Given the description of an element on the screen output the (x, y) to click on. 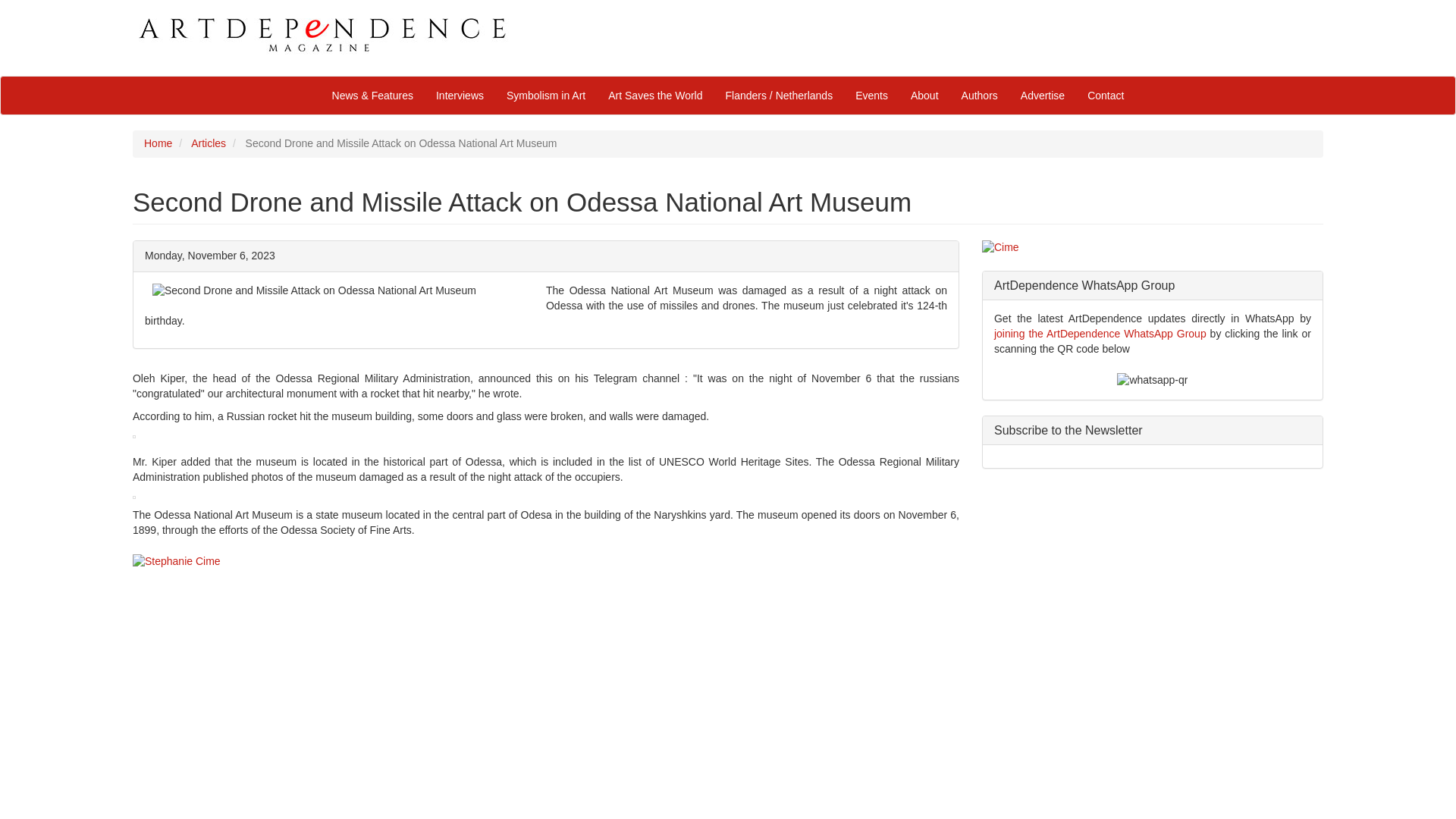
Home (157, 143)
Advertise (1042, 95)
joining the ArtDependence WhatsApp Group (1100, 333)
Authors (979, 95)
WhatsApp (1100, 333)
Events (871, 95)
Interviews (460, 95)
About (924, 95)
Art Saves the World (654, 95)
Contact (1105, 95)
